Given the description of an element on the screen output the (x, y) to click on. 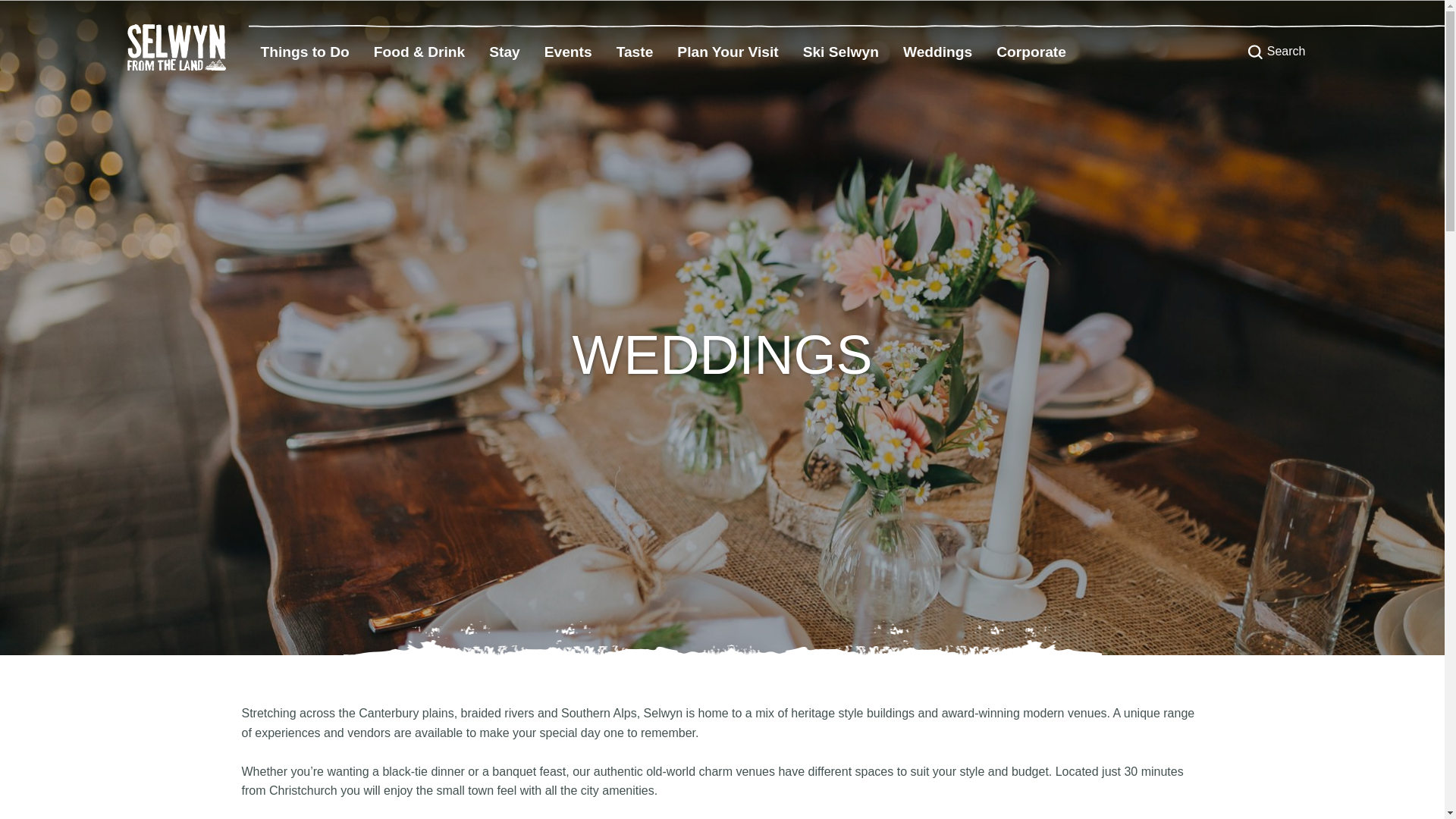
Weddings (937, 51)
Business Events (1031, 51)
Stay (504, 51)
Taste (634, 51)
Things to Do (304, 51)
Events (568, 51)
Things to Do  (304, 51)
Stay (504, 51)
Visit Selwyn (727, 51)
Taste (634, 51)
Ski Selwyn (840, 51)
Events (568, 51)
Plan Your Visit (727, 51)
